Given the description of an element on the screen output the (x, y) to click on. 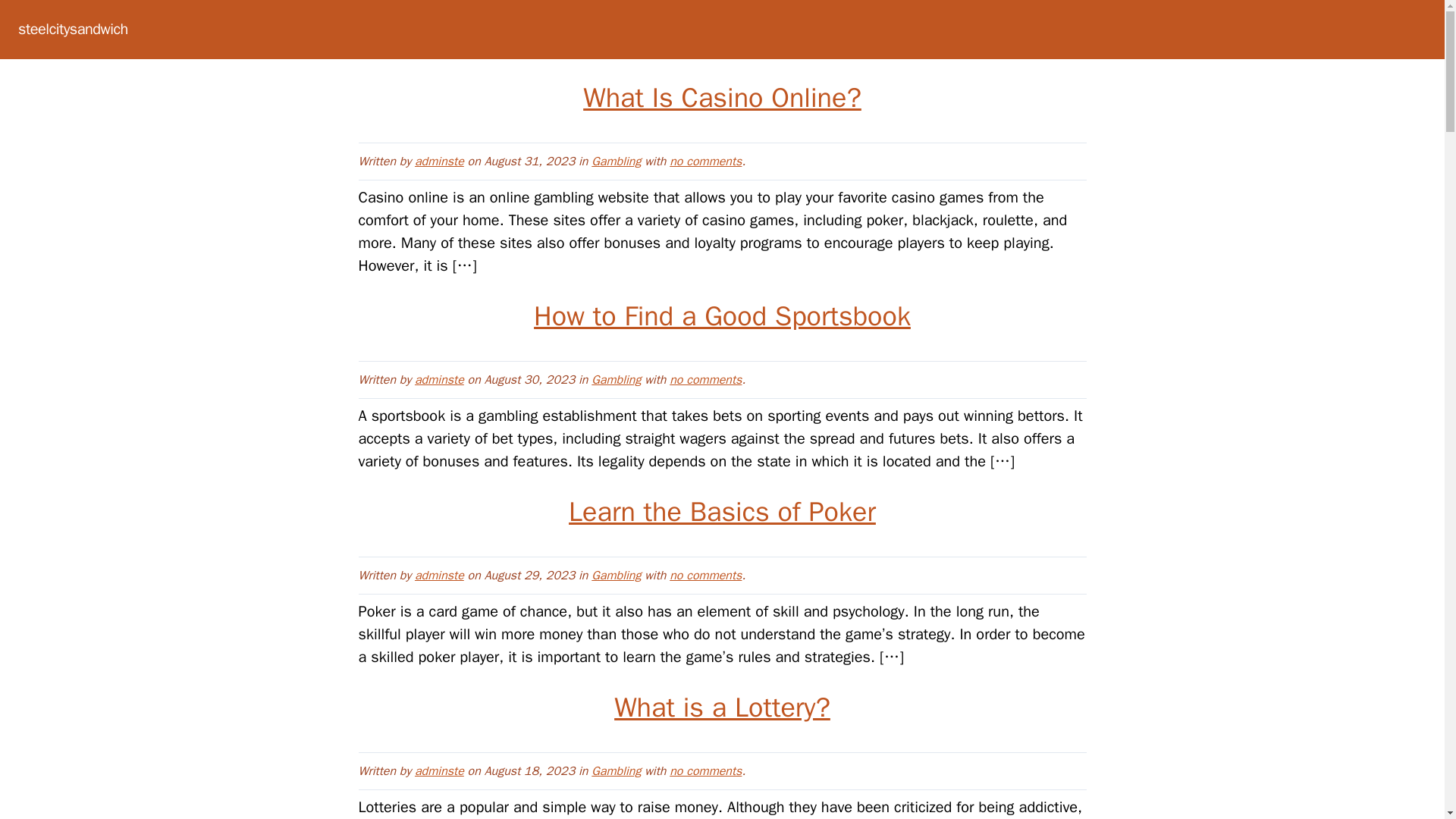
Gambling (615, 575)
Gambling (615, 770)
no comments (705, 575)
no comments (705, 575)
What Is Casino Online? (722, 96)
no comments (705, 770)
adminste (439, 575)
no comments (705, 379)
adminste (439, 160)
adminste (439, 770)
no comments (705, 160)
adminste (439, 379)
steelcitysandwich (72, 29)
no comments (705, 379)
How to Find a Good Sportsbook (722, 315)
